Given the description of an element on the screen output the (x, y) to click on. 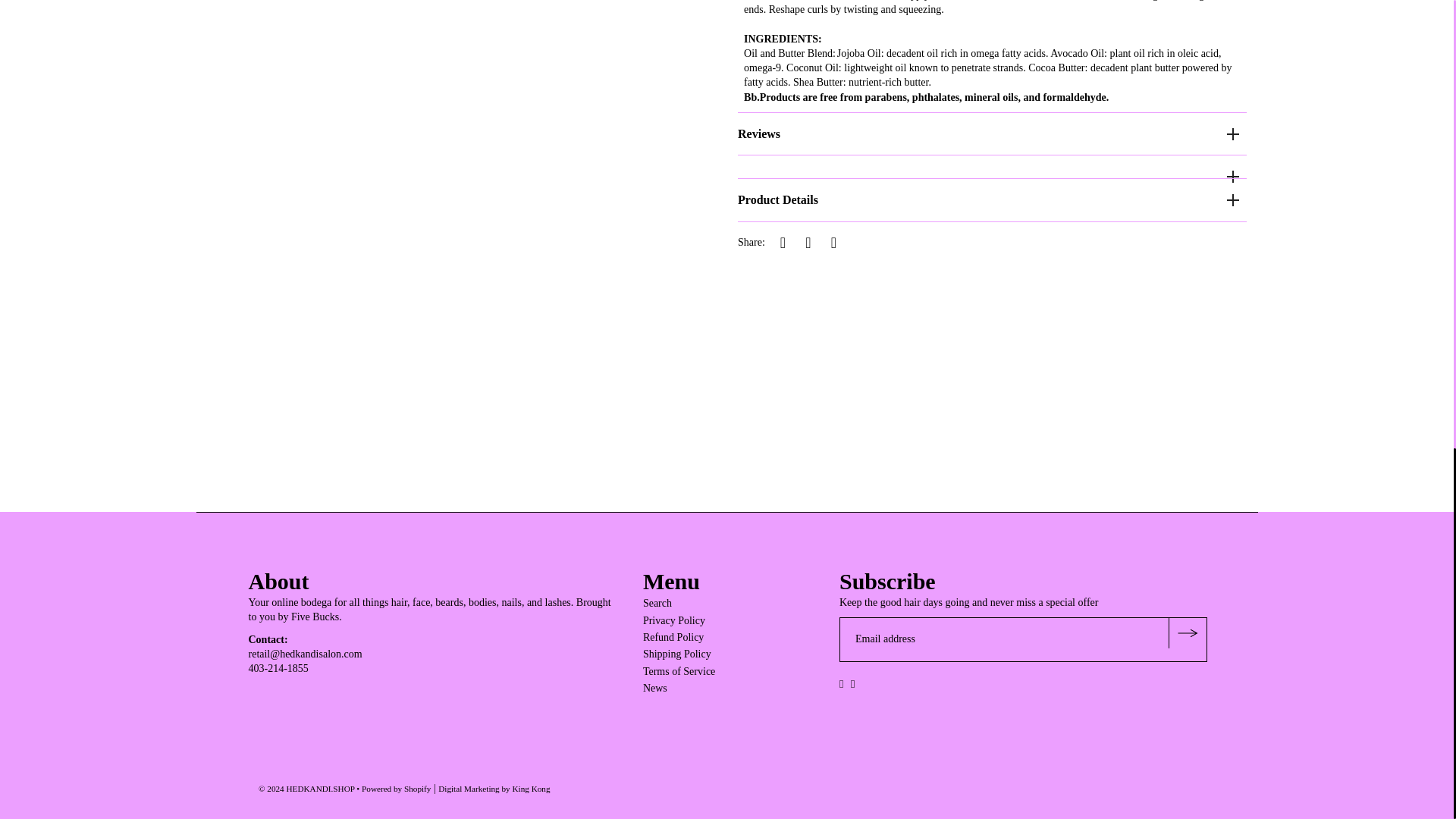
tel:4032141855 (278, 668)
Share on Pinterest (833, 241)
Share on Twitter (807, 241)
Share on Facebook (782, 241)
